Given the description of an element on the screen output the (x, y) to click on. 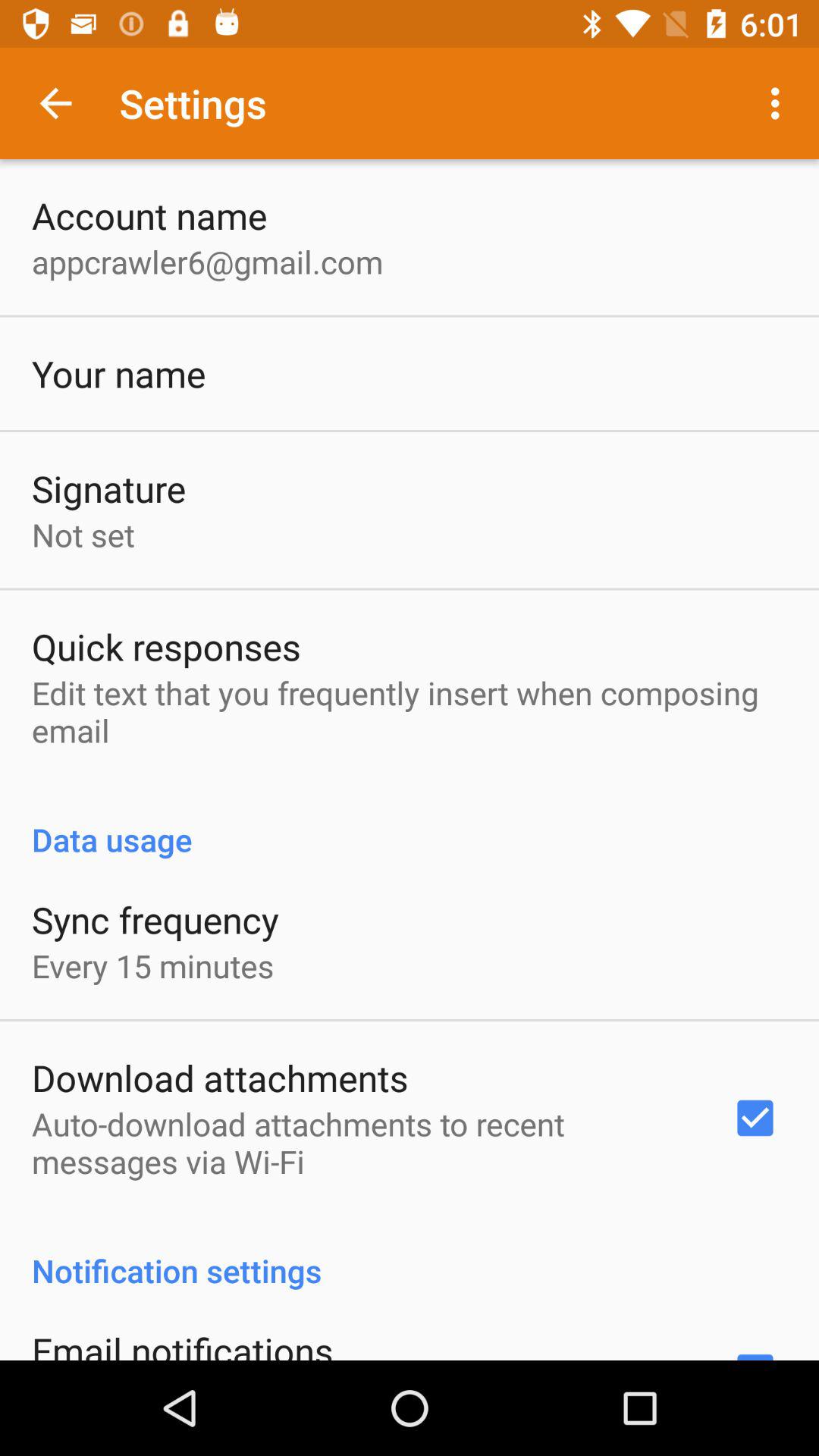
choose the email notifications (182, 1343)
